Given the description of an element on the screen output the (x, y) to click on. 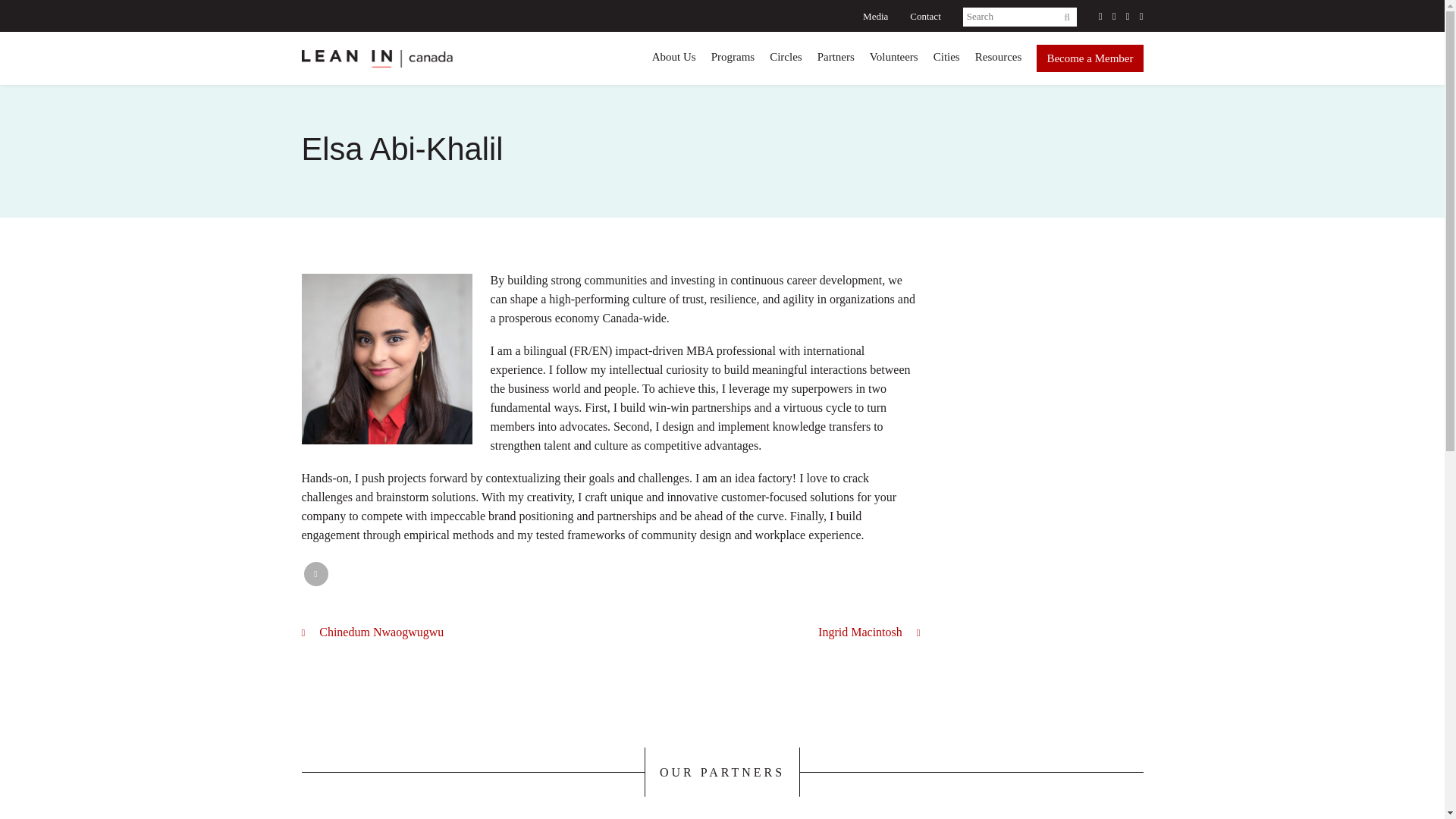
Programs (733, 57)
About Us (673, 57)
Ingrid Macintosh (869, 631)
Contact (925, 16)
About Us (673, 57)
Contact (925, 16)
Partners (835, 57)
Media (875, 16)
Media (875, 16)
Become a Member (1089, 58)
